Given the description of an element on the screen output the (x, y) to click on. 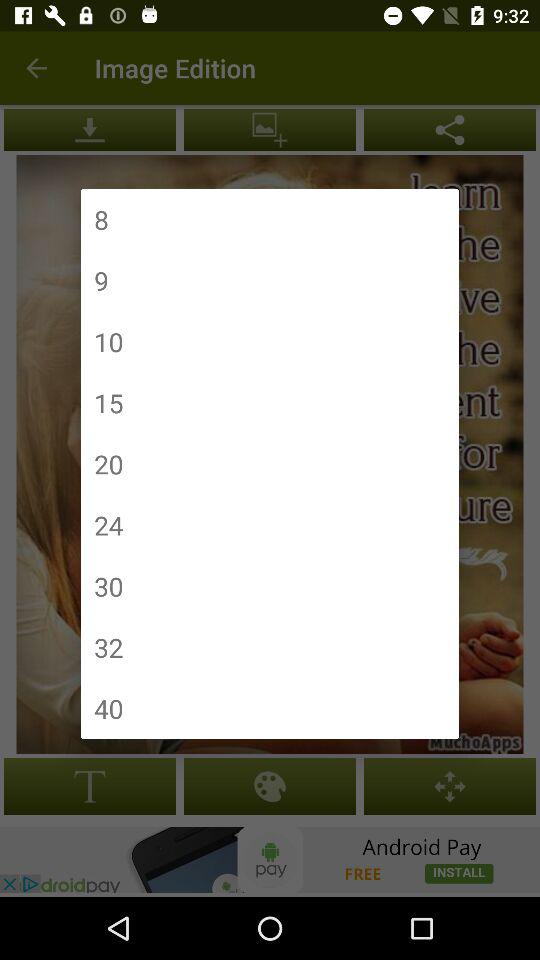
swipe to 32 icon (108, 647)
